Given the description of an element on the screen output the (x, y) to click on. 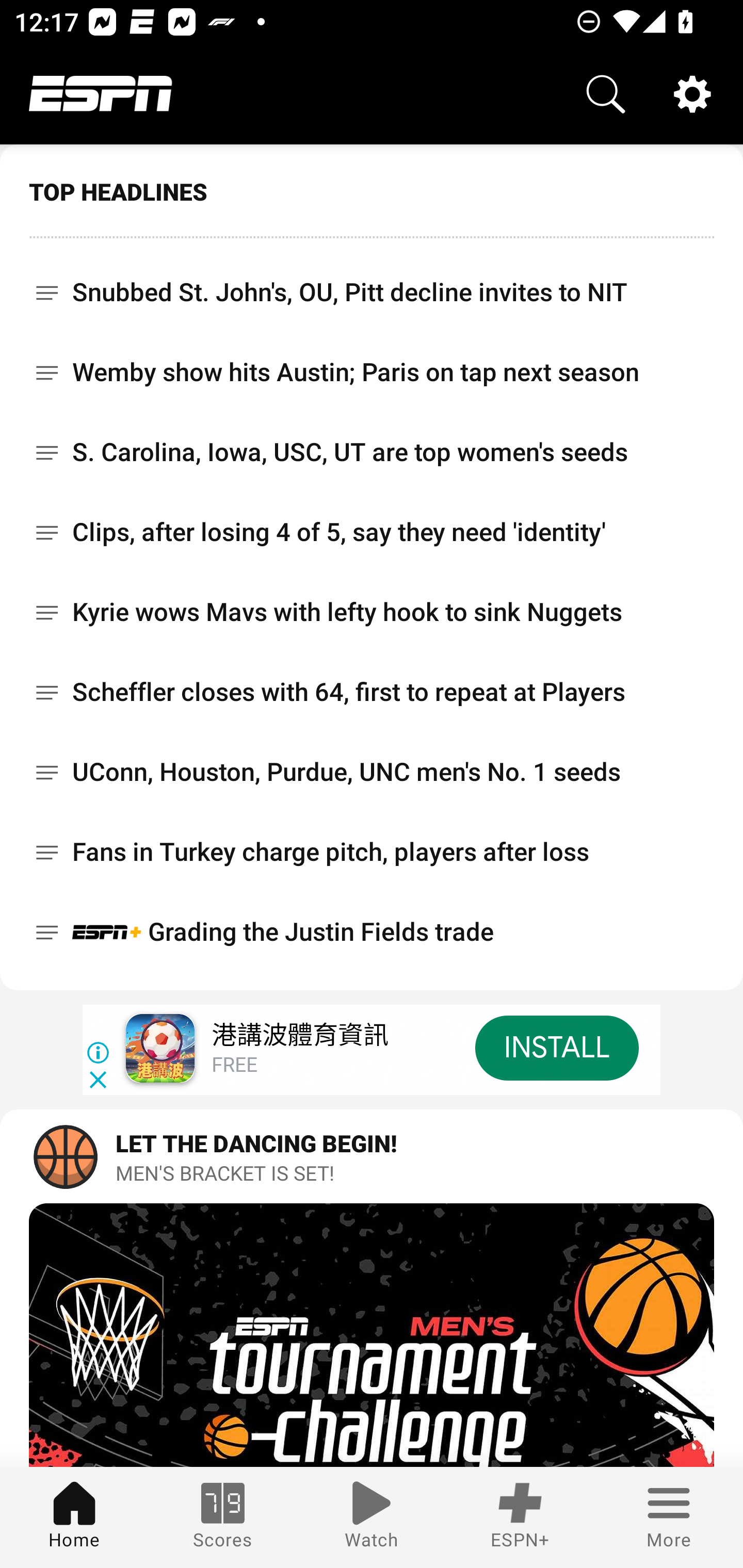
Search (605, 93)
Settings (692, 93)
 Wemby show hits Austin; Paris on tap next season (371, 372)
 S. Carolina, Iowa, USC, UT are top women's seeds (371, 452)
 Kyrie wows Mavs with lefty hook to sink Nuggets (371, 612)
 UConn, Houston, Purdue, UNC men's No. 1 seeds (371, 772)
 Fans in Turkey charge pitch, players after loss (371, 852)
INSTALL (556, 1048)
港講波體育資訊 (299, 1036)
FREE (234, 1065)
Scores (222, 1517)
Watch (371, 1517)
ESPN+ (519, 1517)
More (668, 1517)
